Given the description of an element on the screen output the (x, y) to click on. 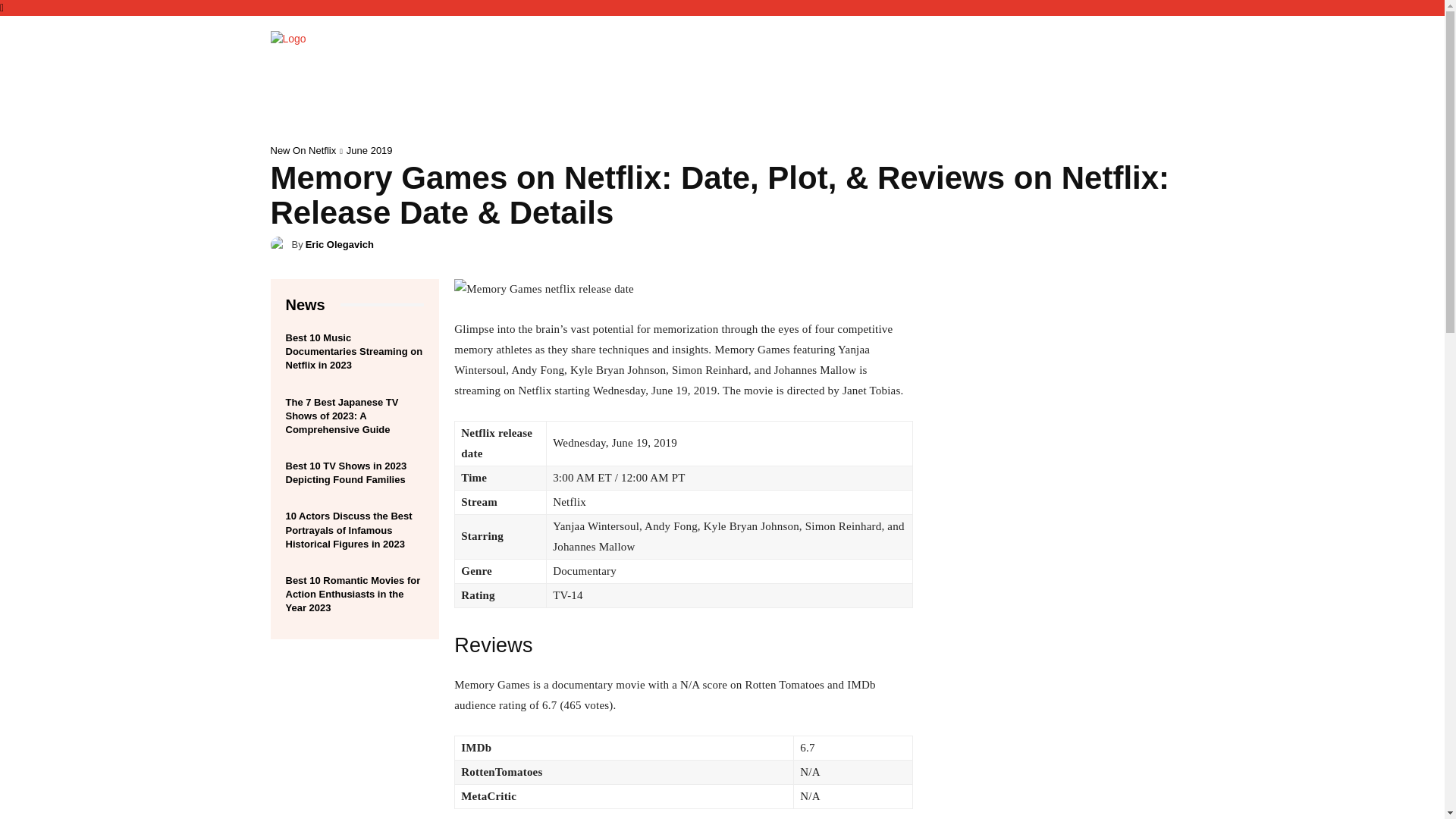
Eric Olegavich (339, 244)
Best 10 TV Shows in 2023 Depicting Found Families (345, 472)
New On Netflix (302, 150)
Best 10 Music Documentaries Streaming on Netflix in 2023 (353, 351)
Eric Olegavich (280, 244)
Best 10 Music Documentaries Streaming on Netflix in 2023 (353, 351)
The 7 Best Japanese TV Shows of 2023: A Comprehensive Guide (341, 415)
June 2019 (369, 150)
View all posts in June 2019 (369, 150)
The 7 Best Japanese TV Shows of 2023: A Comprehensive Guide (341, 415)
